Given the description of an element on the screen output the (x, y) to click on. 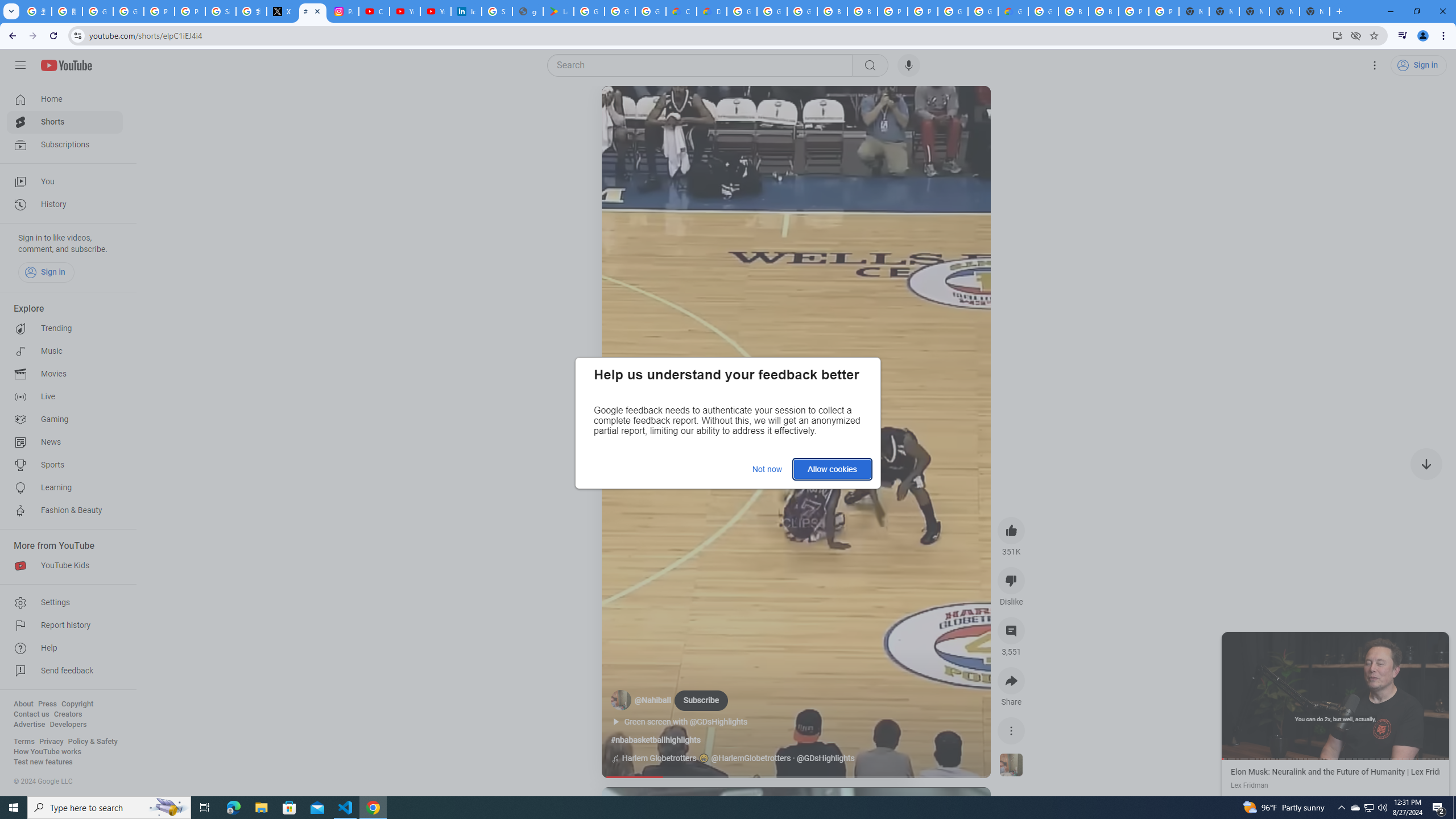
Green screen with @GDsHighlights (692, 722)
google_privacy_policy_en.pdf (527, 11)
Developers (68, 724)
News (64, 441)
History (64, 204)
Contact us (31, 714)
Expand (i) (1232, 643)
Press (46, 703)
Google Cloud Estimate Summary (1012, 11)
